Given the description of an element on the screen output the (x, y) to click on. 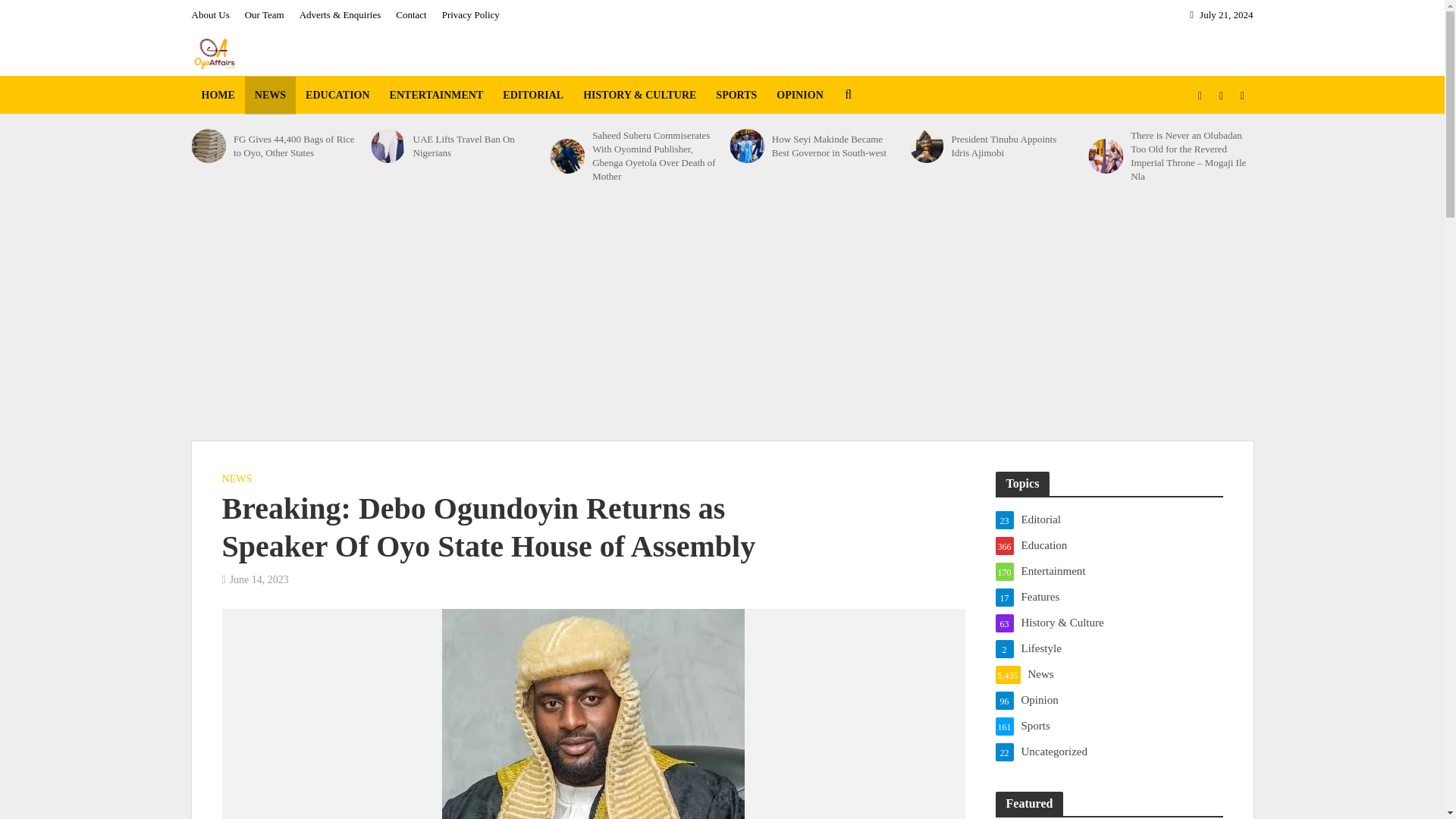
SPORTS (736, 95)
How Seyi Makinde Became Best Governor in South-west (745, 145)
Our Team (264, 15)
Privacy Policy (469, 15)
NEWS (269, 95)
FG Gives 44,400 Bags of Rice to Oyo, Other States (294, 145)
President Tinubu Appoints Idris Ajimobi (925, 145)
Contact (410, 15)
EDUCATION (337, 95)
ENTERTAINMENT (436, 95)
About Us (212, 15)
HOME (217, 95)
OPINION (799, 95)
EDITORIAL (533, 95)
